Given the description of an element on the screen output the (x, y) to click on. 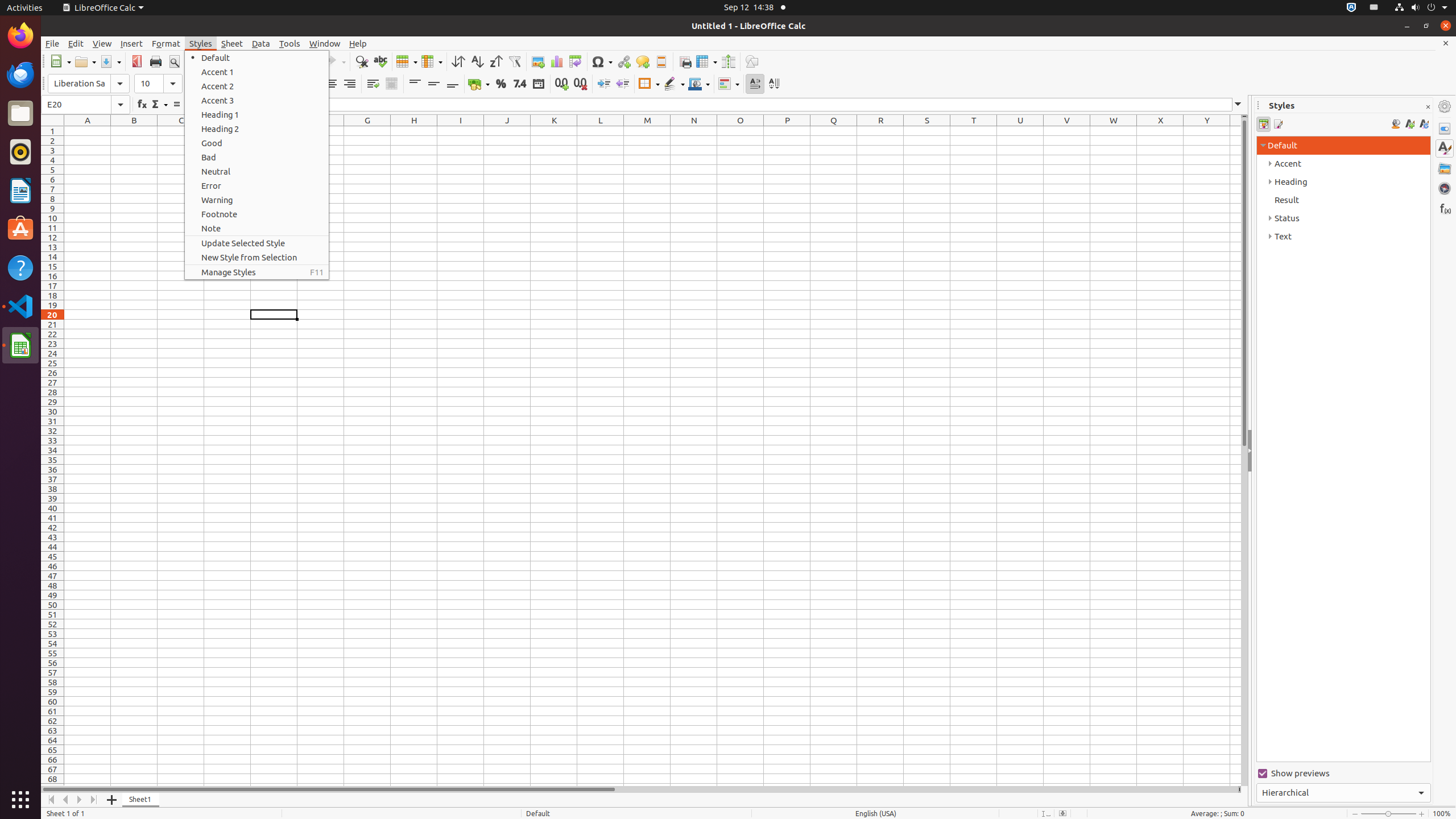
:1.21/StatusNotifierItem Element type: menu (1373, 7)
AutoFilter Element type: push-button (514, 61)
Rhythmbox Element type: push-button (20, 151)
Merge and Center Cells Element type: push-button (391, 83)
:1.72/StatusNotifierItem Element type: menu (1350, 7)
